Given the description of an element on the screen output the (x, y) to click on. 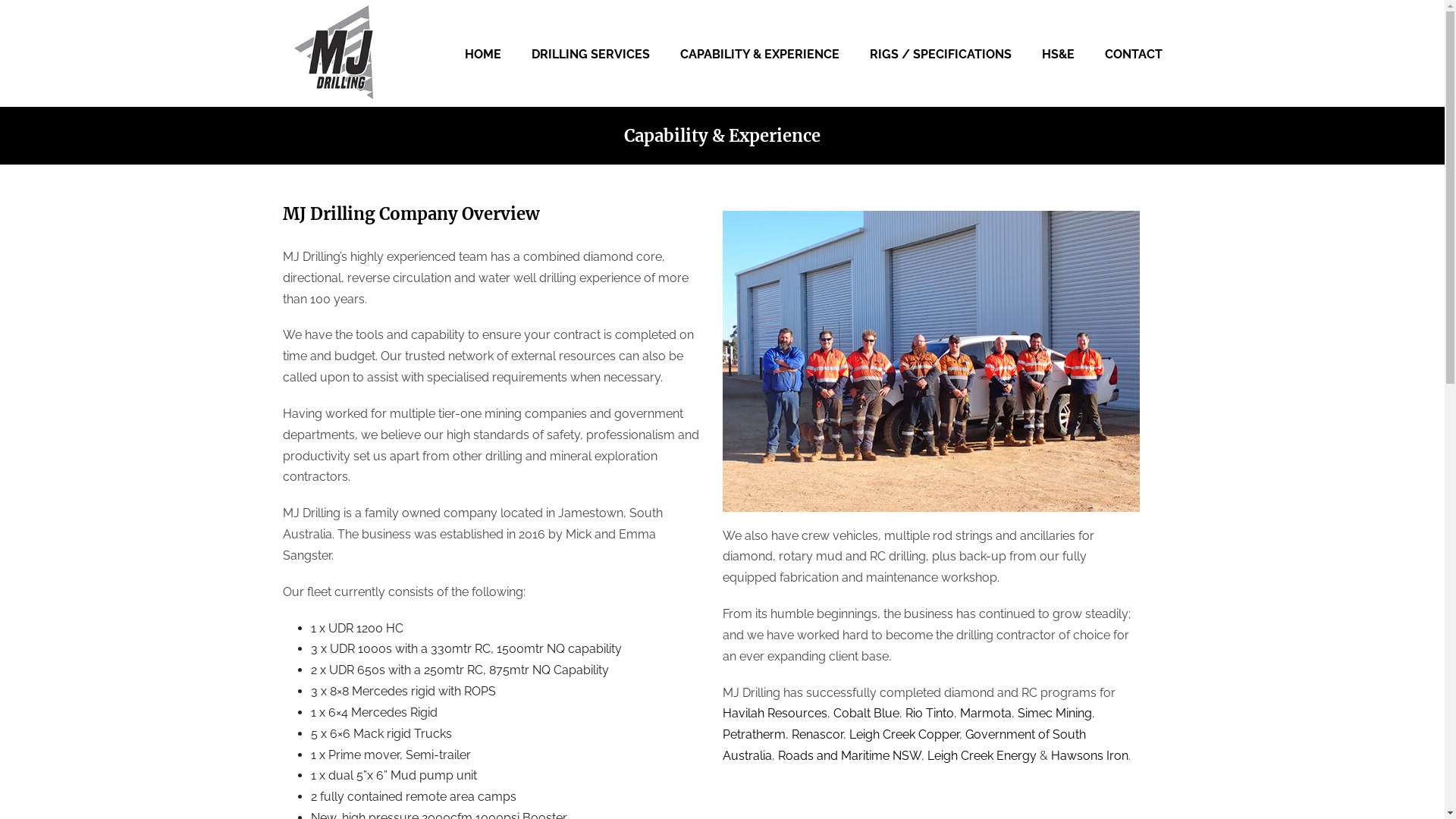
Remote Region Drilling & Mineral Exploration Element type: hover (335, 53)
RIGS / SPECIFICATIONS Element type: text (939, 53)
DRILLING SERVICES Element type: text (589, 53)
Cobalt Blue Element type: text (865, 713)
Petratherm Element type: text (752, 734)
Hawsons Iron Element type: text (1089, 755)
CAPABILITY & EXPERIENCE Element type: text (758, 53)
Marmota Element type: text (985, 713)
CONTACT Element type: text (1132, 53)
Havilah Resources Element type: text (773, 713)
MJ Drilling Mineral Exploration Team Element type: hover (930, 360)
Simec Mining Element type: text (1054, 713)
Leigh Creek Copper Element type: text (904, 734)
HOME Element type: text (481, 53)
Rio Tinto Element type: text (929, 713)
Renascor Element type: text (817, 734)
Roads and Maritime NSW Element type: text (849, 755)
HS&E Element type: text (1057, 53)
Leigh Creek Energy Element type: text (980, 755)
Government of South Australia Element type: text (903, 744)
